Given the description of an element on the screen output the (x, y) to click on. 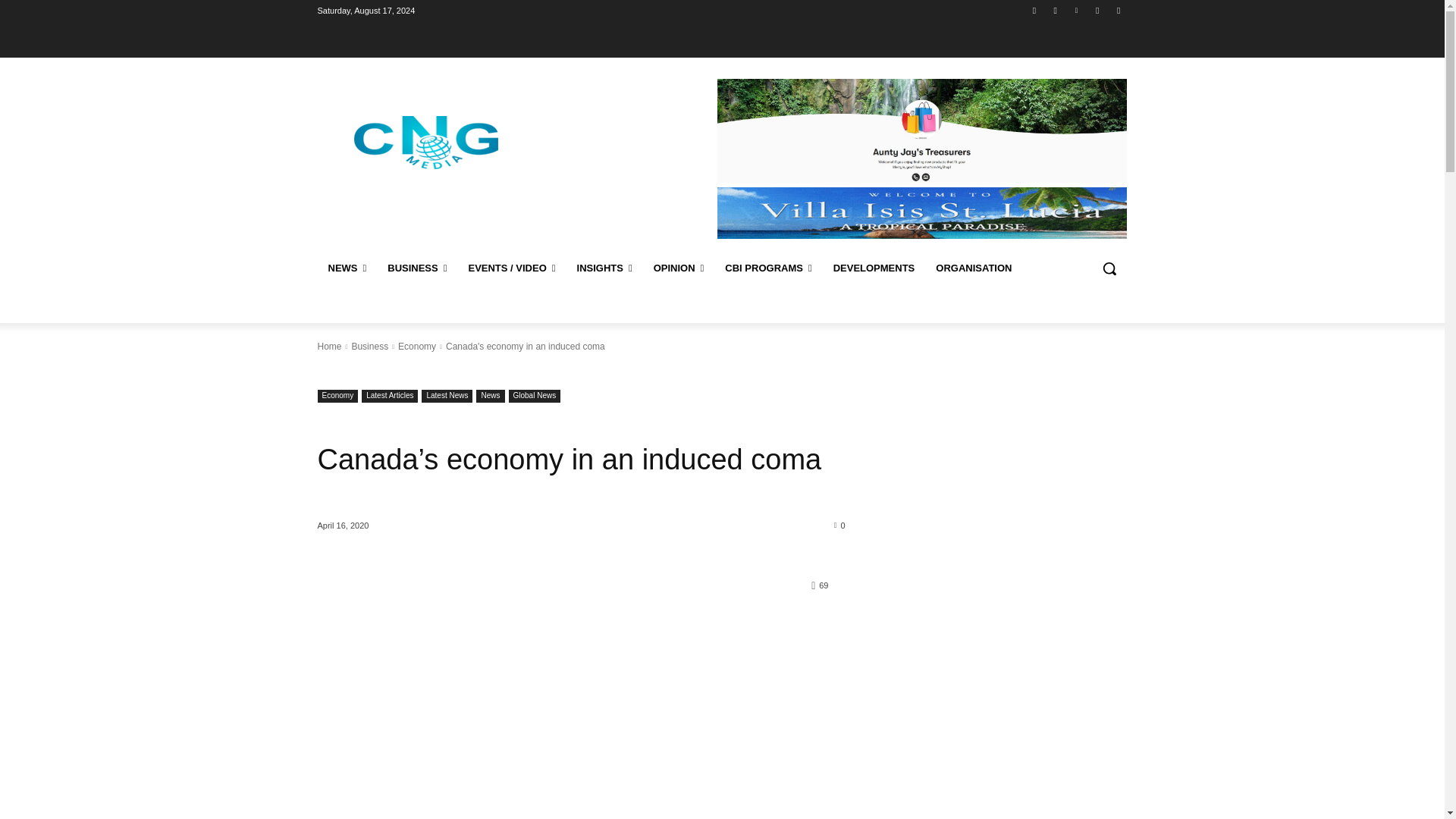
Instagram (1055, 9)
Linkedin (1075, 9)
Facebook (1034, 9)
Twitter (1097, 9)
Youtube (1117, 9)
NEWS (347, 268)
